Given the description of an element on the screen output the (x, y) to click on. 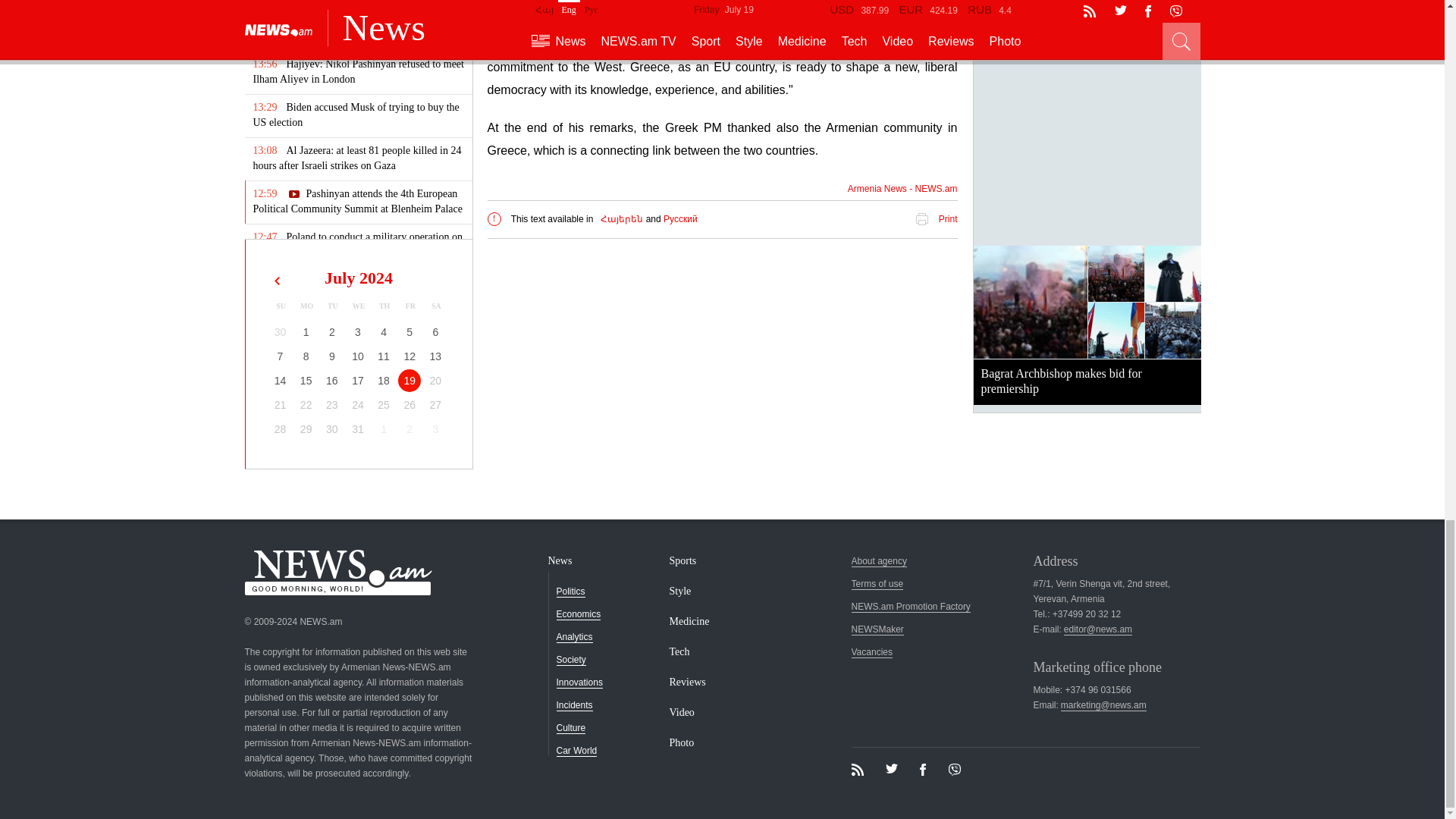
Tuesday (332, 306)
Monday (306, 306)
Saturday (435, 306)
Wednesday (358, 306)
Friday (410, 306)
Thursday (384, 306)
Sunday (280, 306)
Insticator Content Engagement Unit (721, 386)
